Given the description of an element on the screen output the (x, y) to click on. 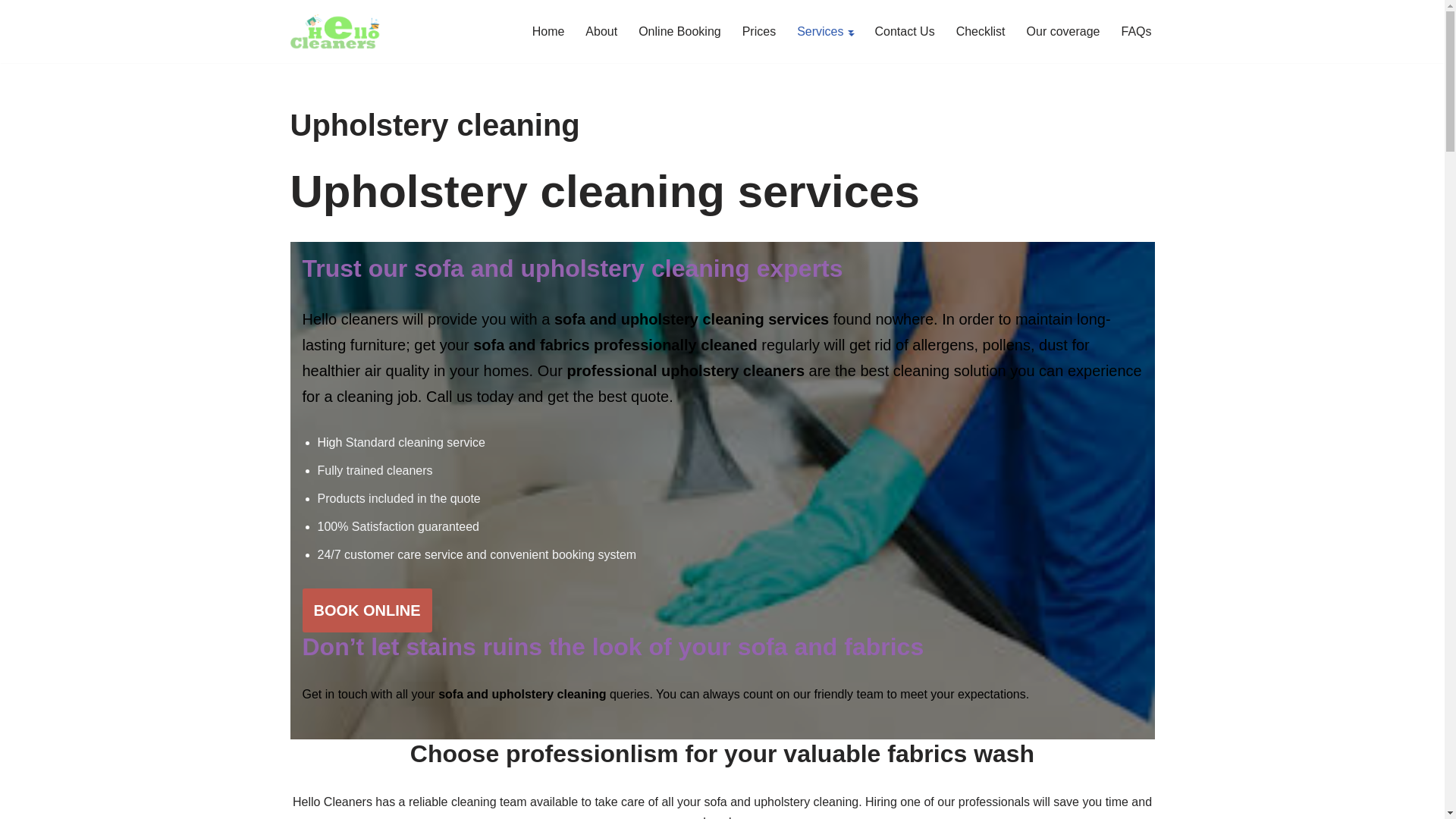
Checklist (981, 31)
Prices (759, 31)
Contact Us (904, 31)
Our coverage (1063, 31)
FAQs (1136, 31)
Online Booking (679, 31)
Services (819, 31)
About (601, 31)
Home (548, 31)
Skip to content (11, 31)
